Given the description of an element on the screen output the (x, y) to click on. 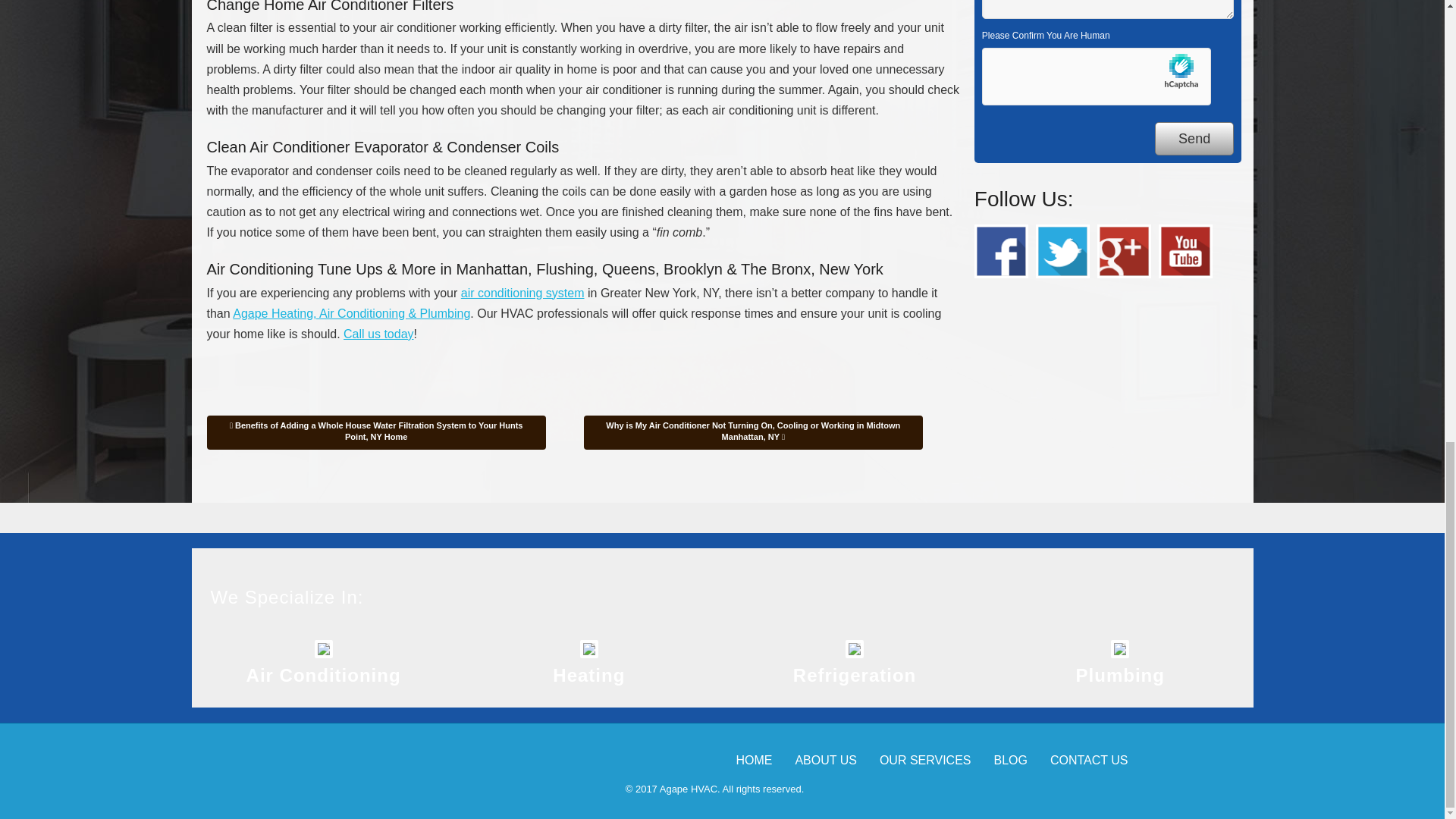
air conditioning system (523, 292)
Send (1193, 139)
